Given the description of an element on the screen output the (x, y) to click on. 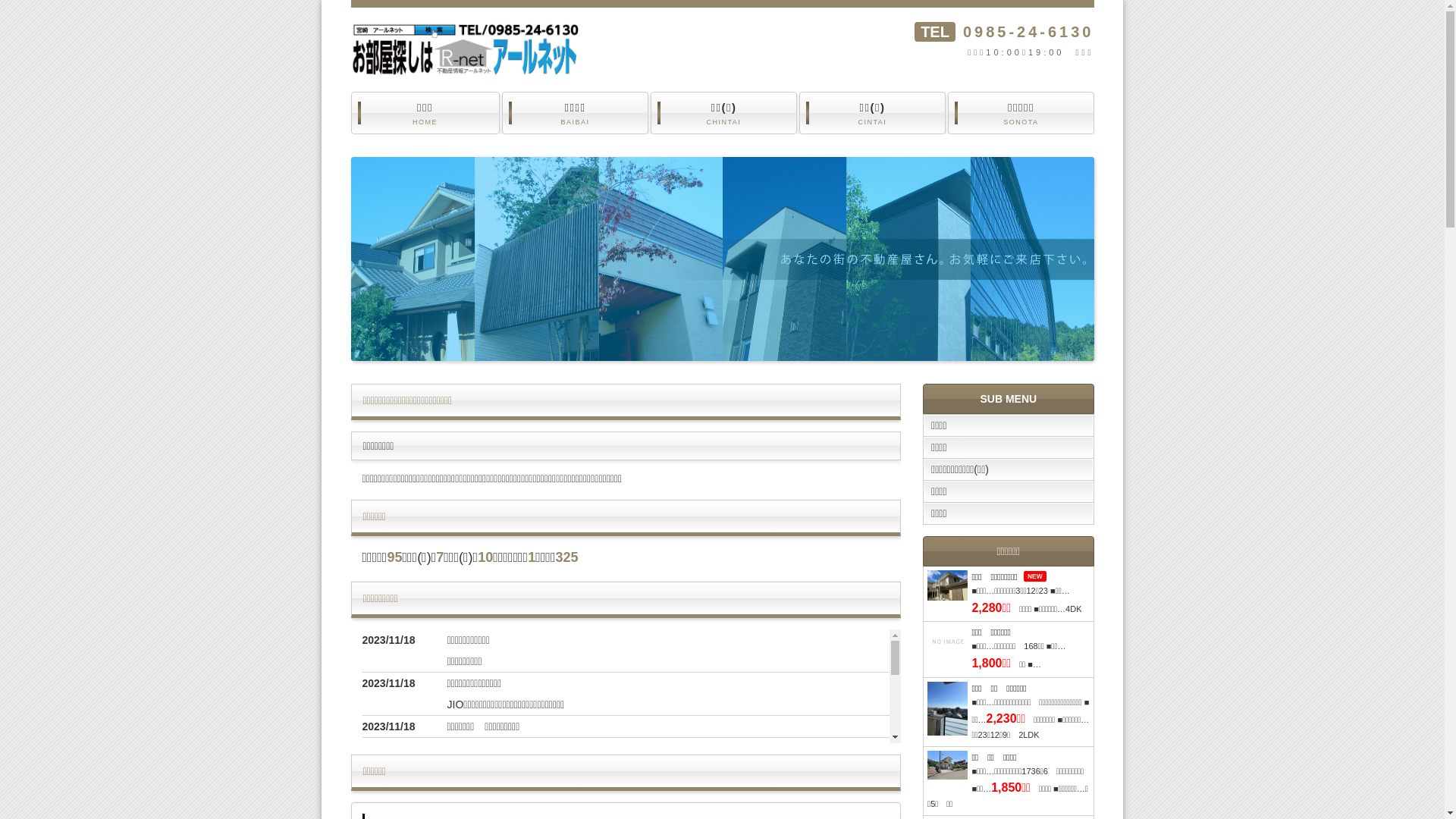
0985-24-6130 Element type: text (1028, 31)
